Given the description of an element on the screen output the (x, y) to click on. 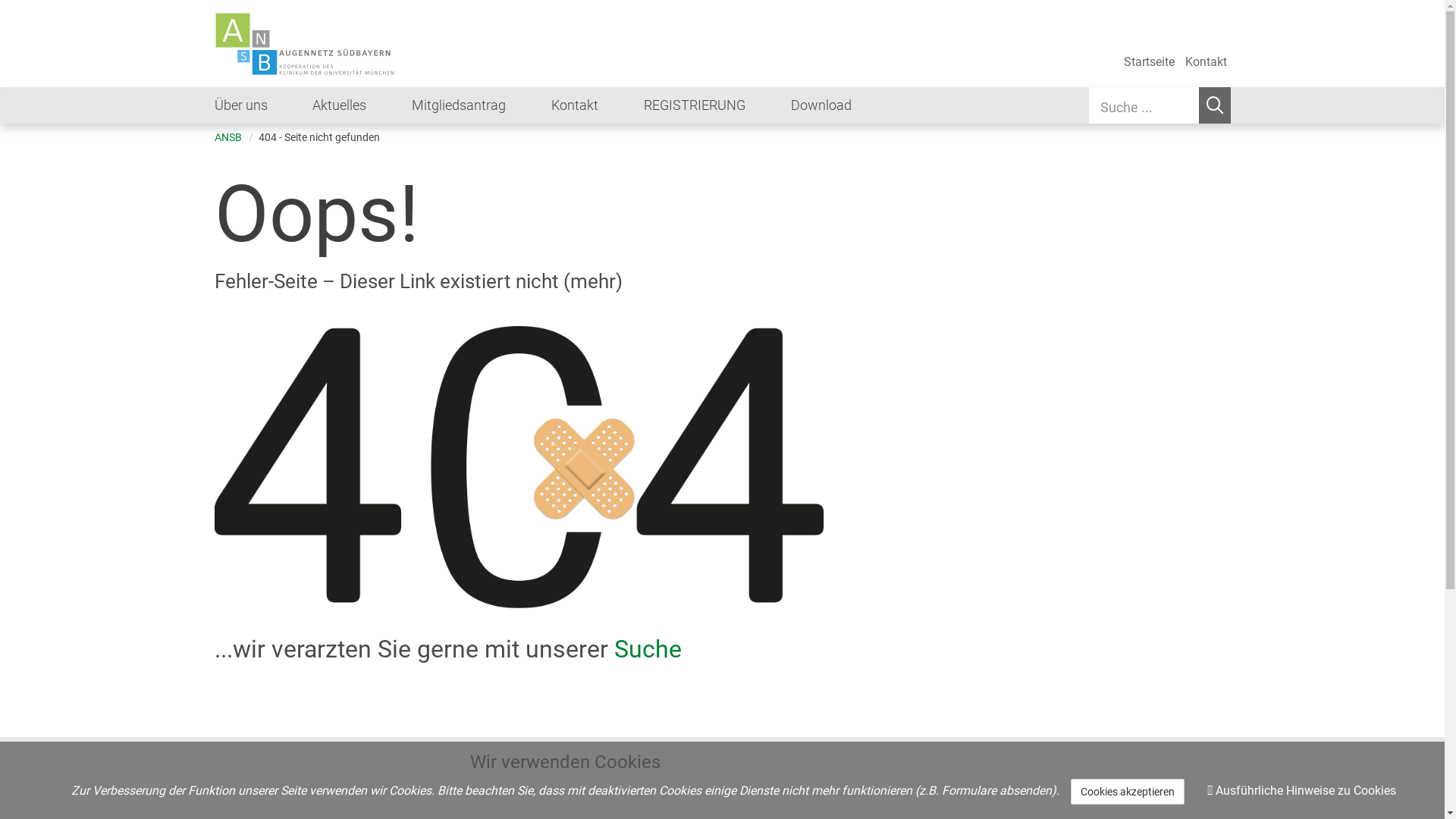
Suchen Element type: text (1214, 105)
Cookies akzeptieren Element type: text (1127, 791)
Mitgliedsantrag Element type: text (481, 103)
Download Element type: text (820, 103)
Suche Element type: text (647, 648)
Kontakt Element type: text (1205, 61)
Aktuelles Element type: text (361, 103)
REGISTRIERUNG Element type: text (716, 103)
+ Element type: text (488, 769)
ANSB Element type: text (227, 137)
Startseite Element type: text (1148, 61)
Kontakt Element type: text (597, 103)
